Given the description of an element on the screen output the (x, y) to click on. 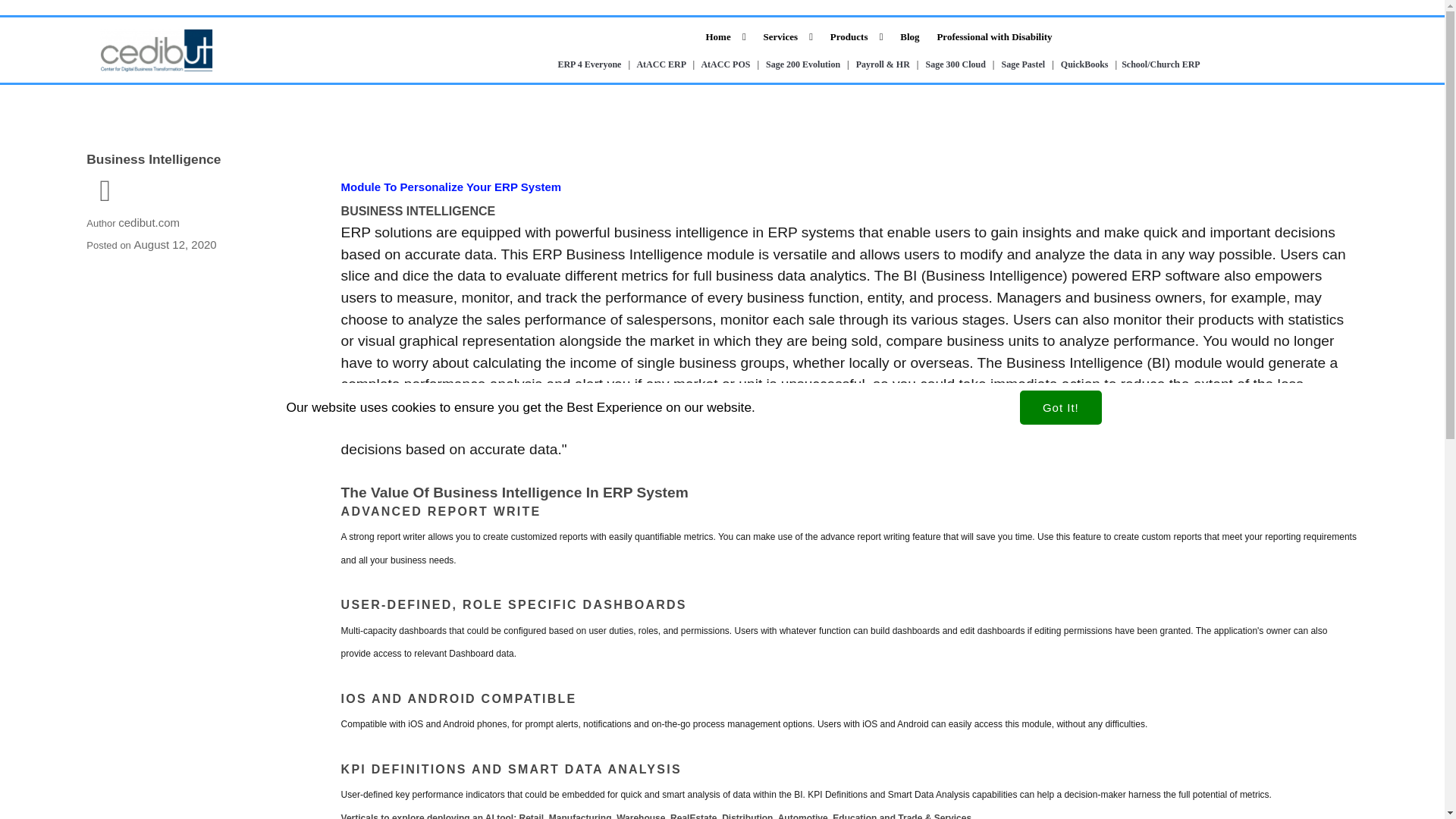
Got It! (1061, 407)
Products (856, 37)
Services (788, 37)
August 12, 2020 (174, 244)
QuickBooks (1084, 63)
Blog (909, 37)
cedibut (156, 50)
Sage 200 Evolution (802, 63)
Professional with Disability (994, 37)
Products (856, 37)
